Given the description of an element on the screen output the (x, y) to click on. 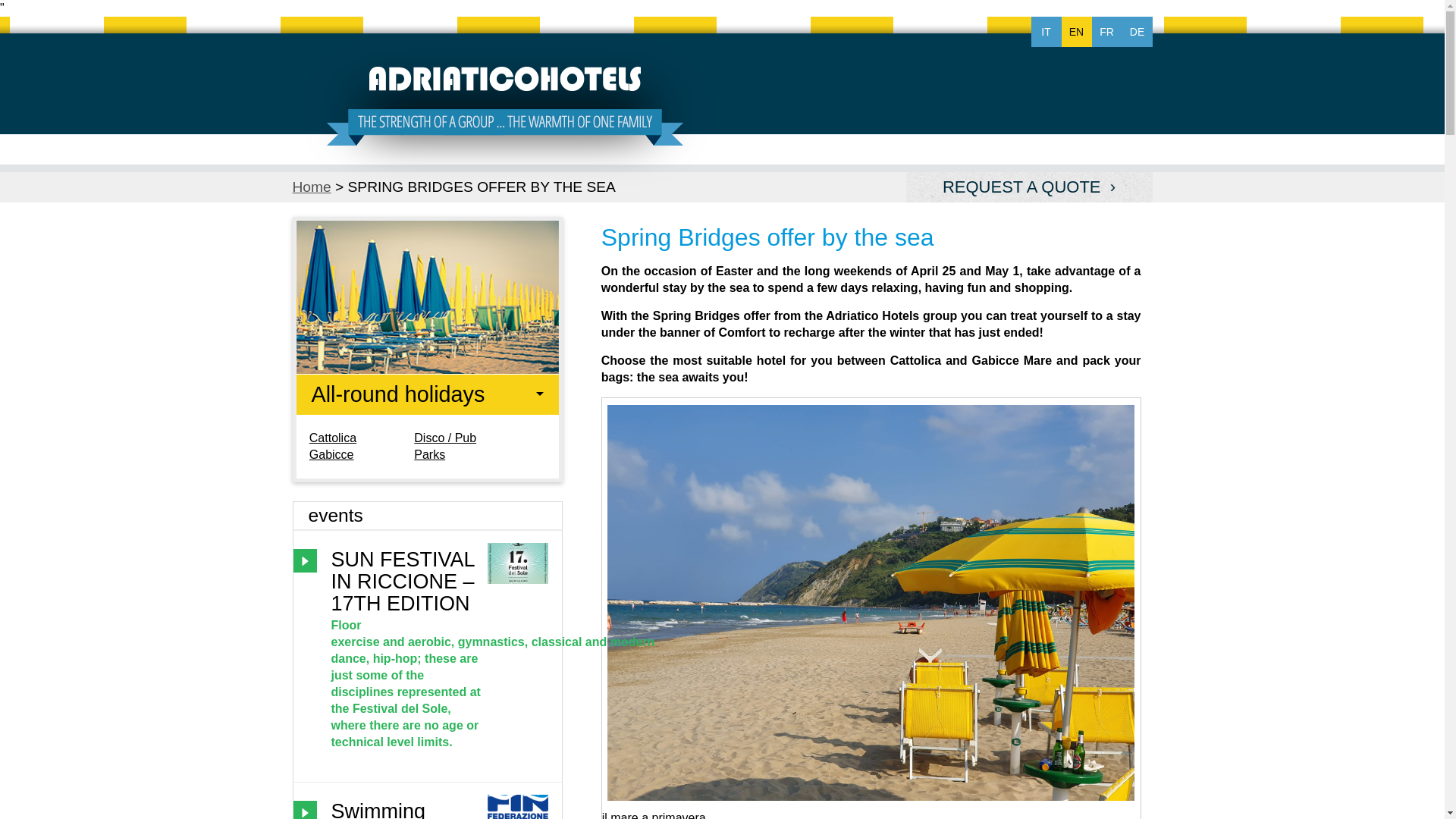
Home (311, 186)
Parks (429, 454)
IT (1045, 31)
Swimming sporting events in Riccione 2024 (405, 809)
EN (1076, 31)
DE (1137, 31)
Gabicce (330, 454)
Cattolica (332, 437)
FR (1107, 31)
